Given the description of an element on the screen output the (x, y) to click on. 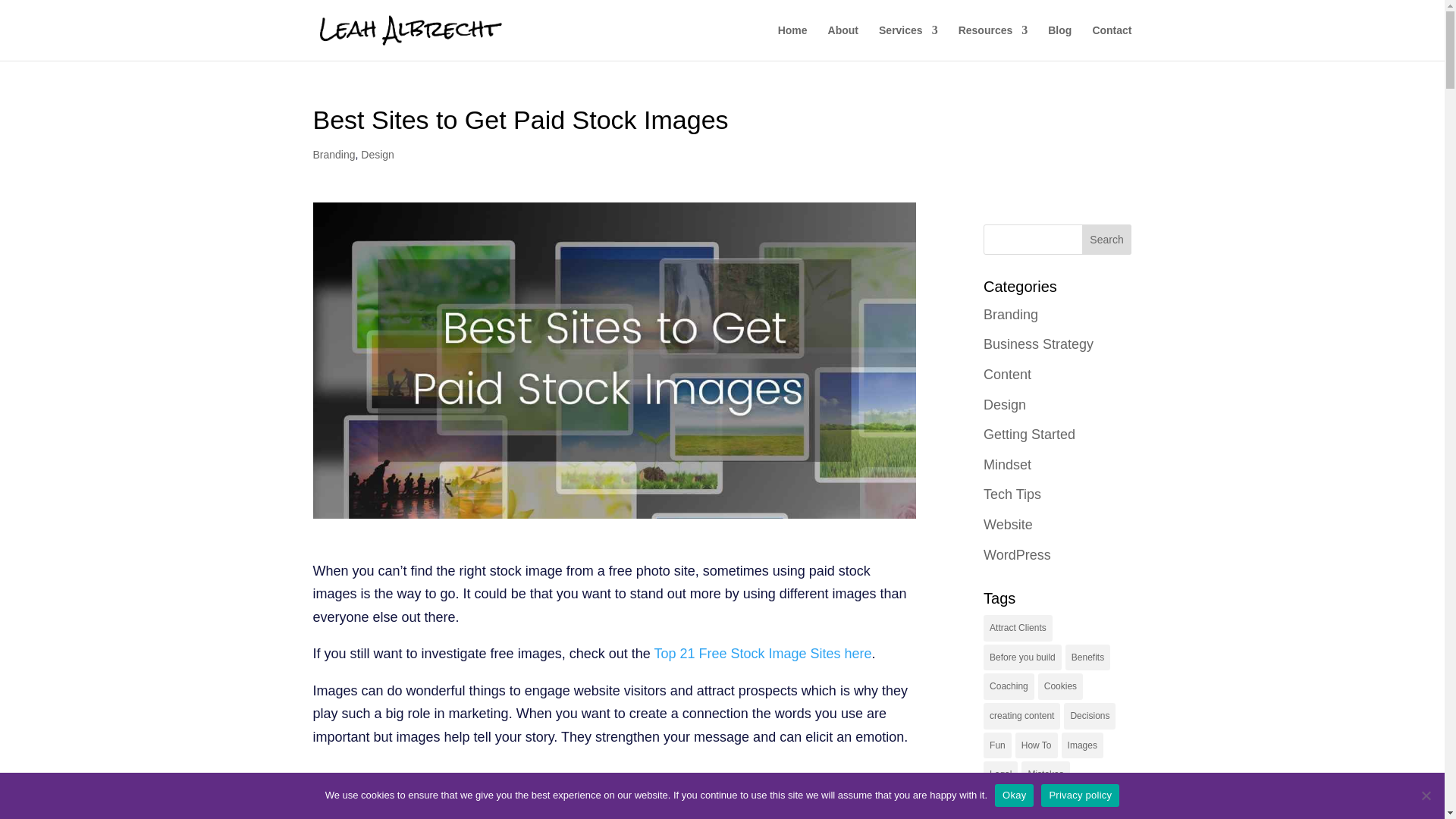
Resources (992, 42)
Top 21 Free Stock Image Sites here (761, 653)
Design (377, 154)
Contact (1111, 42)
Services (908, 42)
Branding (334, 154)
No (1425, 795)
Search (1106, 239)
